Given the description of an element on the screen output the (x, y) to click on. 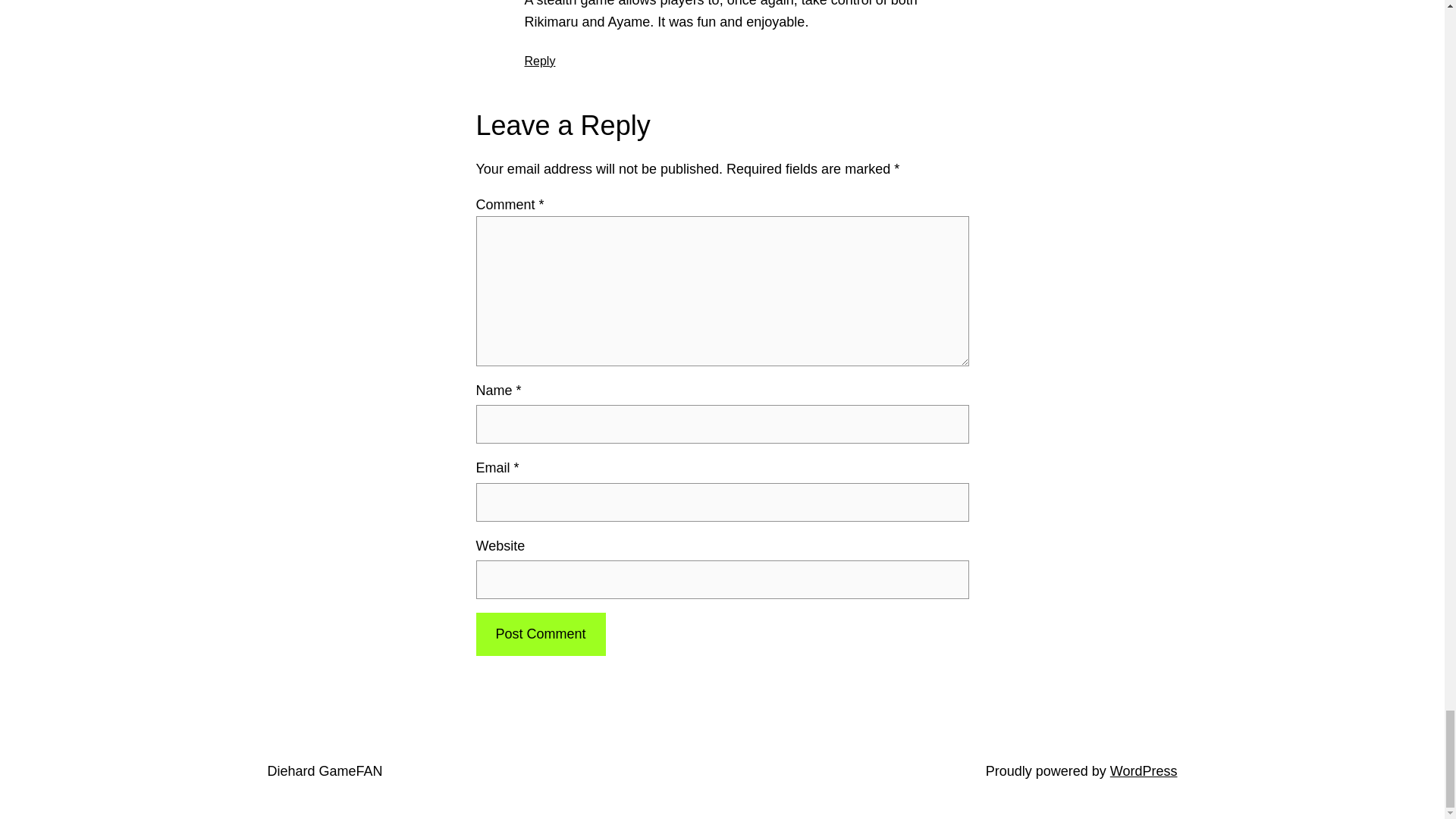
Diehard GameFAN (323, 770)
Post Comment (540, 634)
Post Comment (540, 634)
WordPress (1143, 770)
Reply (540, 60)
